Given the description of an element on the screen output the (x, y) to click on. 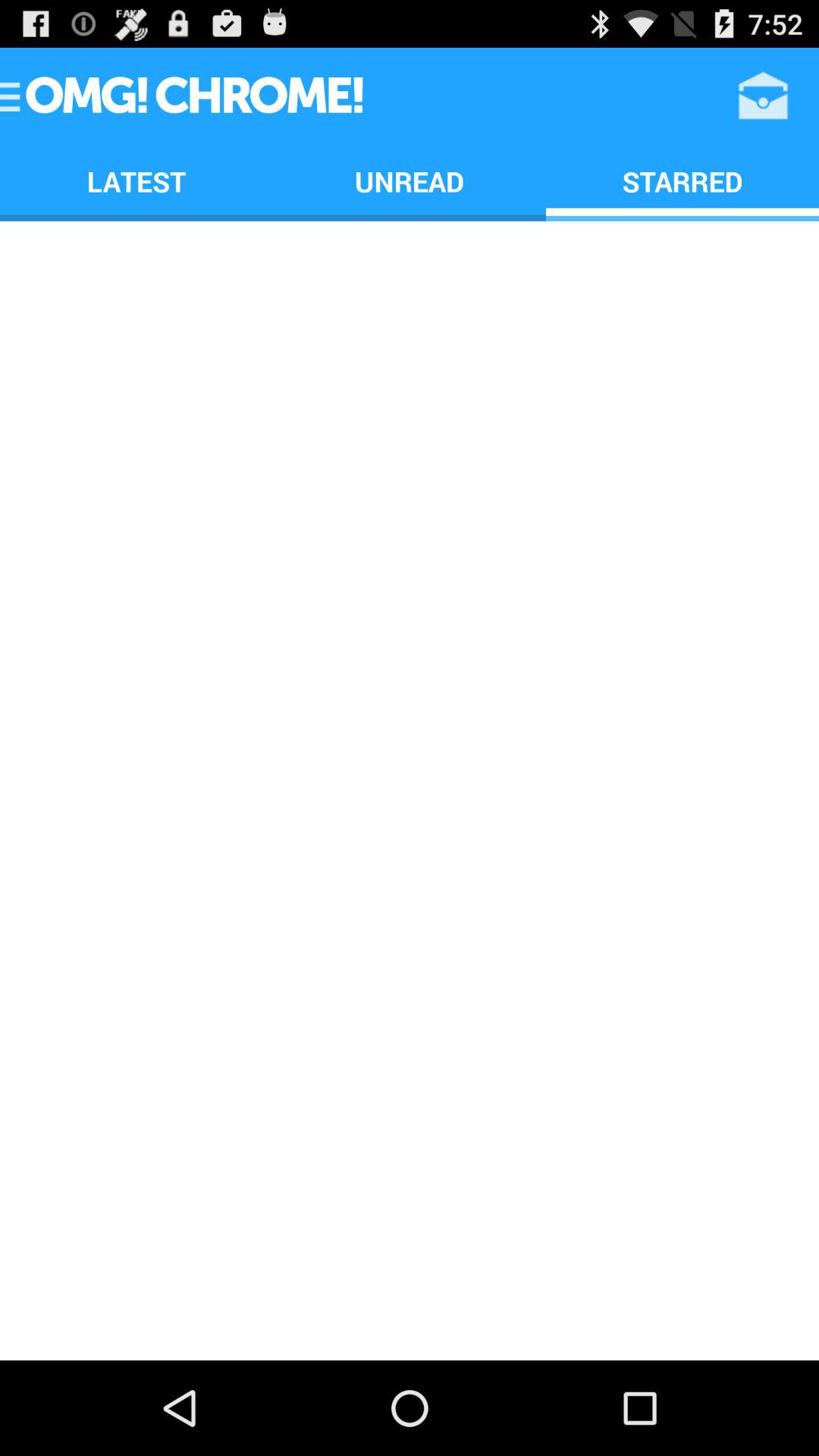
turn off the item next to the unread app (136, 181)
